Given the description of an element on the screen output the (x, y) to click on. 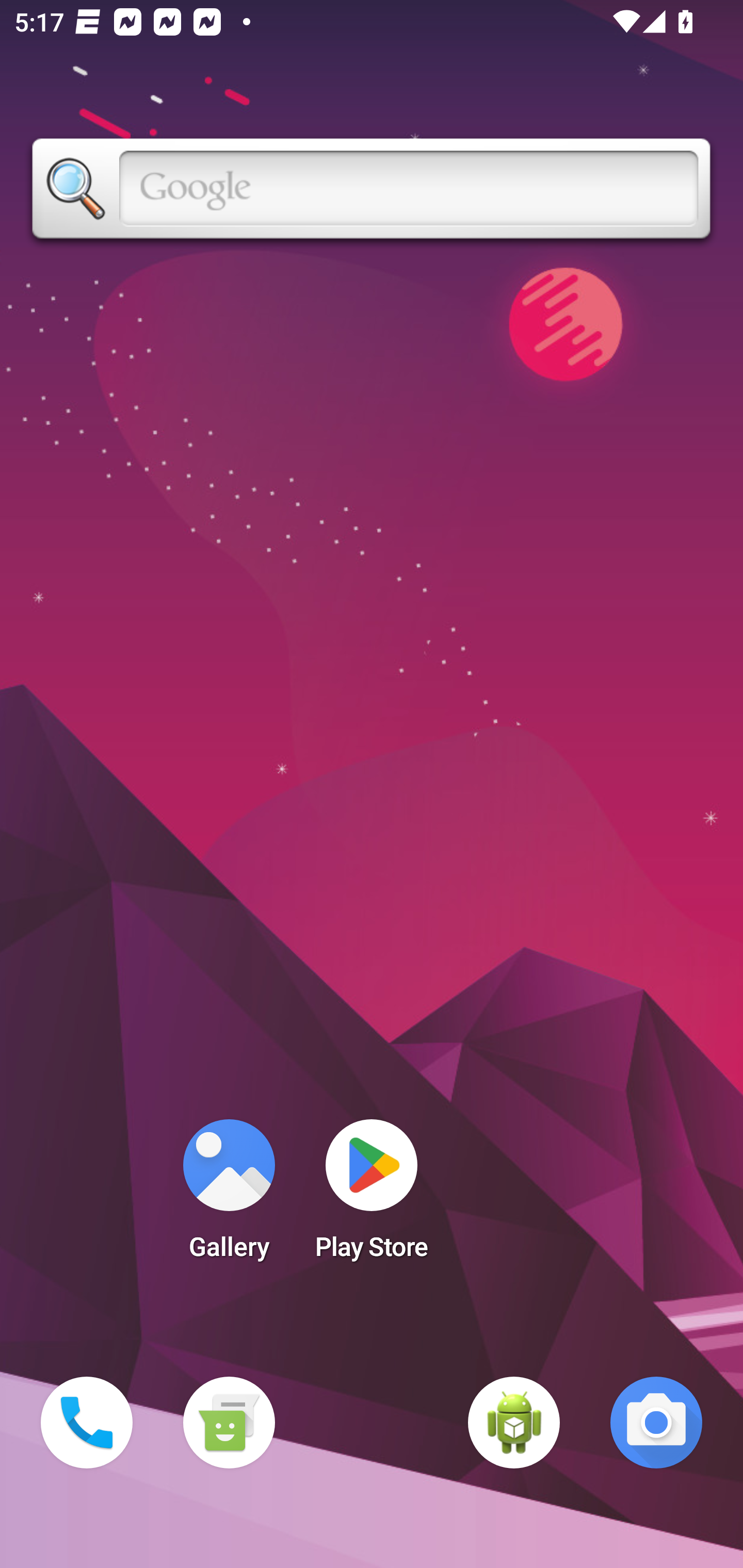
Gallery (228, 1195)
Play Store (371, 1195)
Phone (86, 1422)
Messaging (228, 1422)
WebView Browser Tester (513, 1422)
Camera (656, 1422)
